Given the description of an element on the screen output the (x, y) to click on. 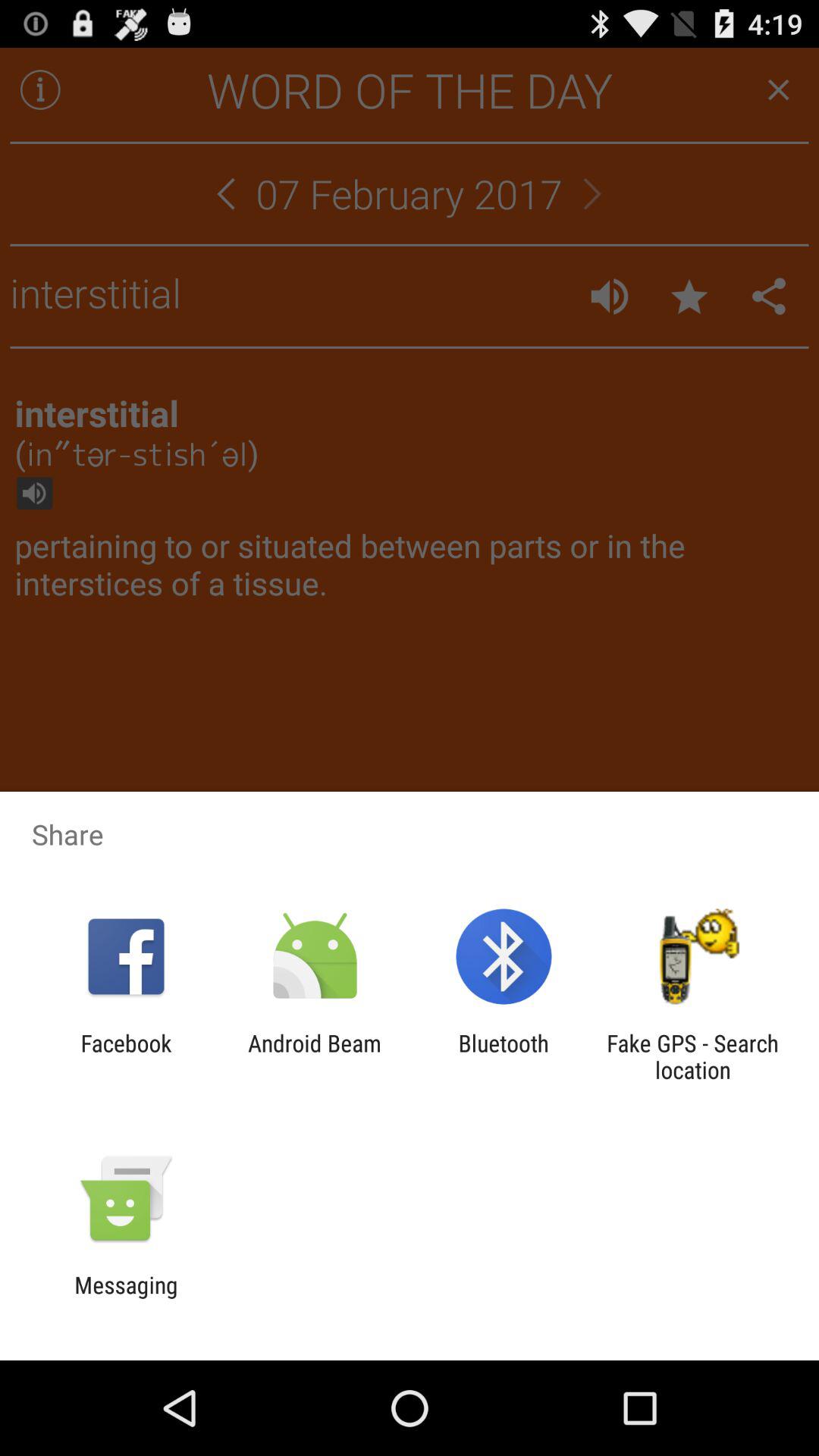
launch app to the right of android beam icon (503, 1056)
